Given the description of an element on the screen output the (x, y) to click on. 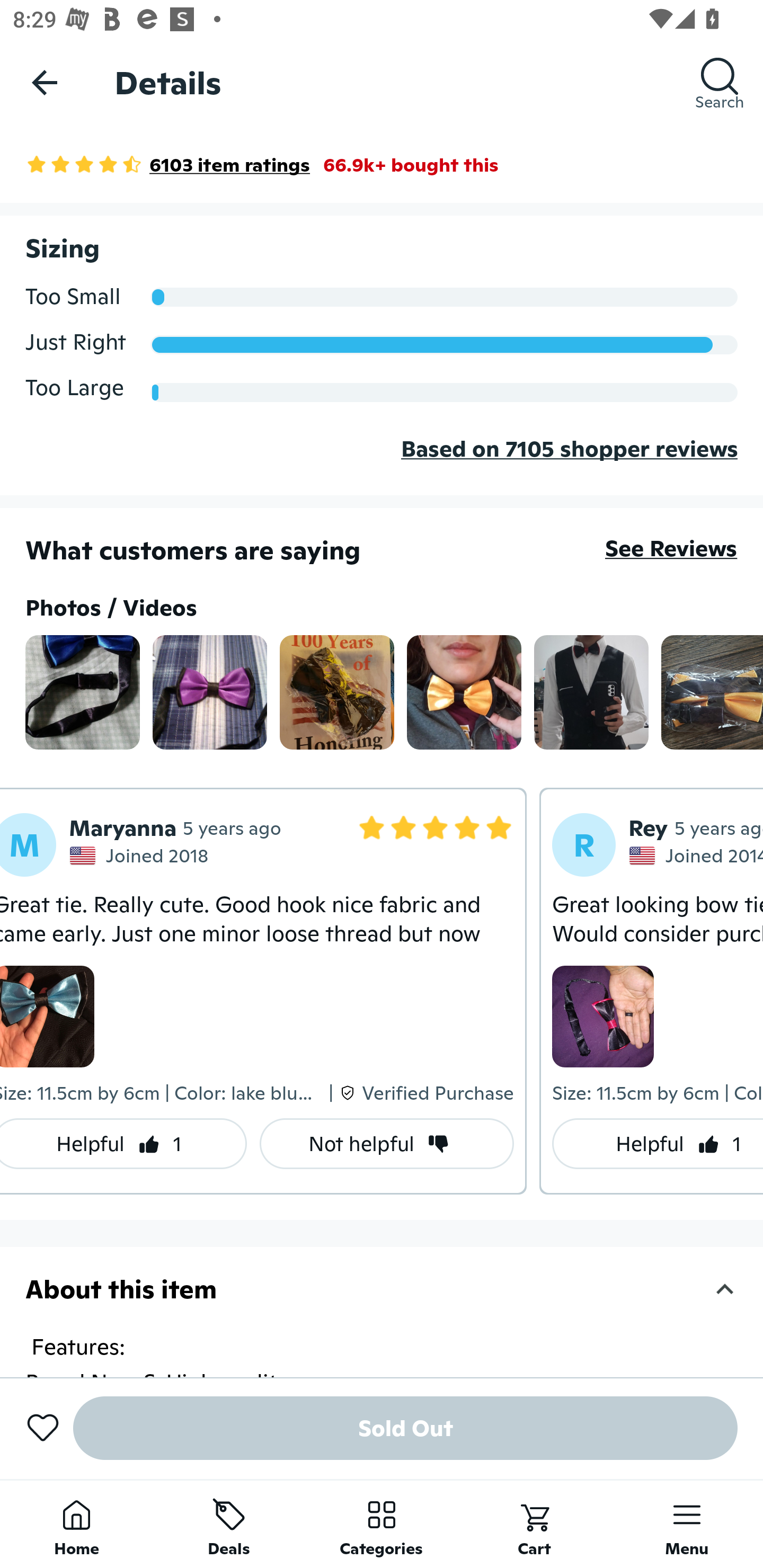
Navigate up (44, 82)
Search (719, 82)
4.4 Star Rating 6103 item ratings (167, 164)
Based on 7105 shopper reviews (381, 463)
See Reviews (671, 547)
M (28, 844)
Maryanna (122, 828)
R (583, 844)
Rey (648, 828)
Joined 2018  (140, 855)
Joined 2014  (695, 855)
Helpful 1 (123, 1143)
Not helpful (386, 1143)
Helpful 1 (657, 1143)
About this item (381, 1288)
Sold Out (405, 1428)
Home (76, 1523)
Deals (228, 1523)
Categories (381, 1523)
Cart (533, 1523)
Menu (686, 1523)
